Given the description of an element on the screen output the (x, y) to click on. 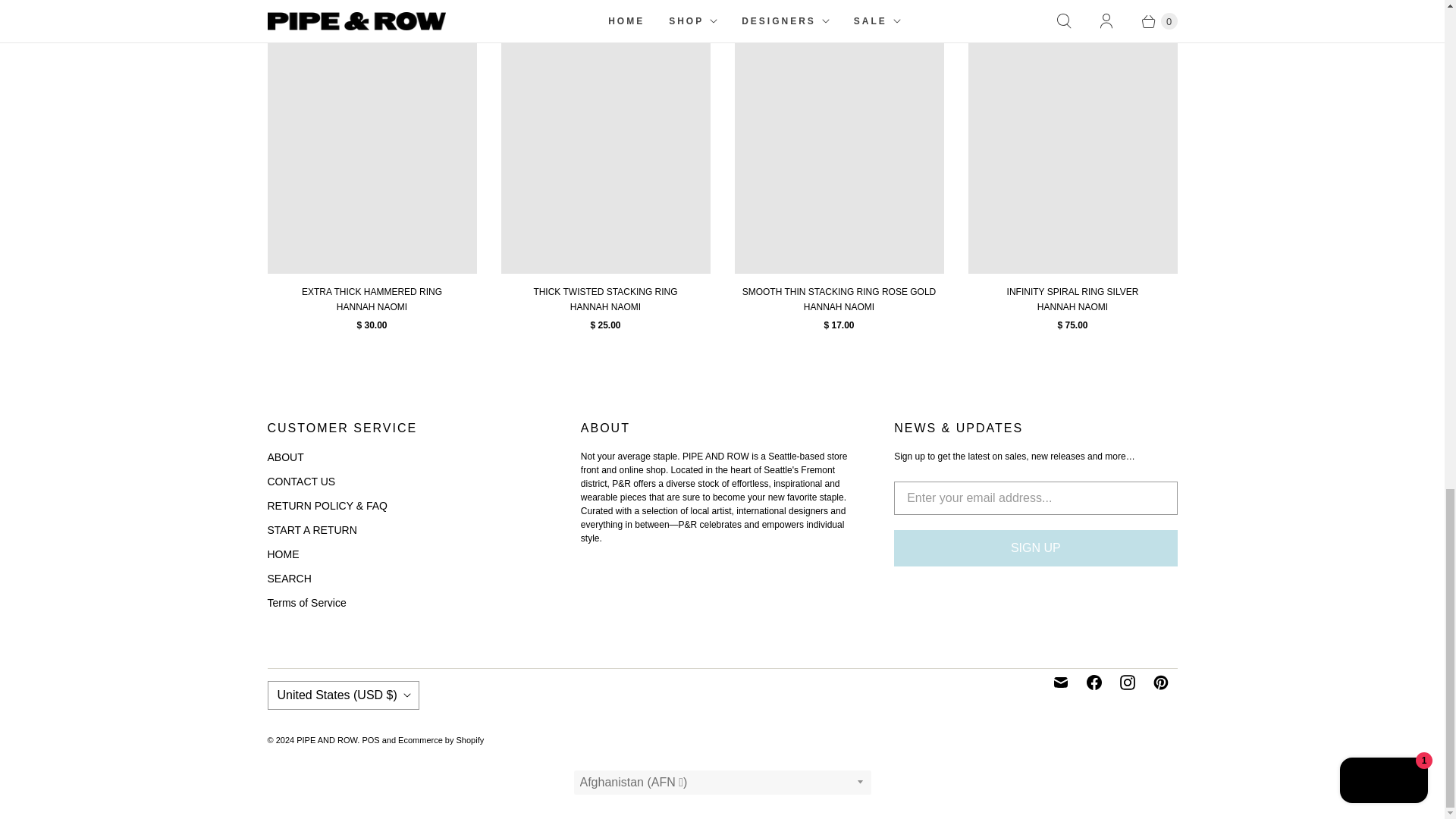
Sign Up (1034, 547)
